Given the description of an element on the screen output the (x, y) to click on. 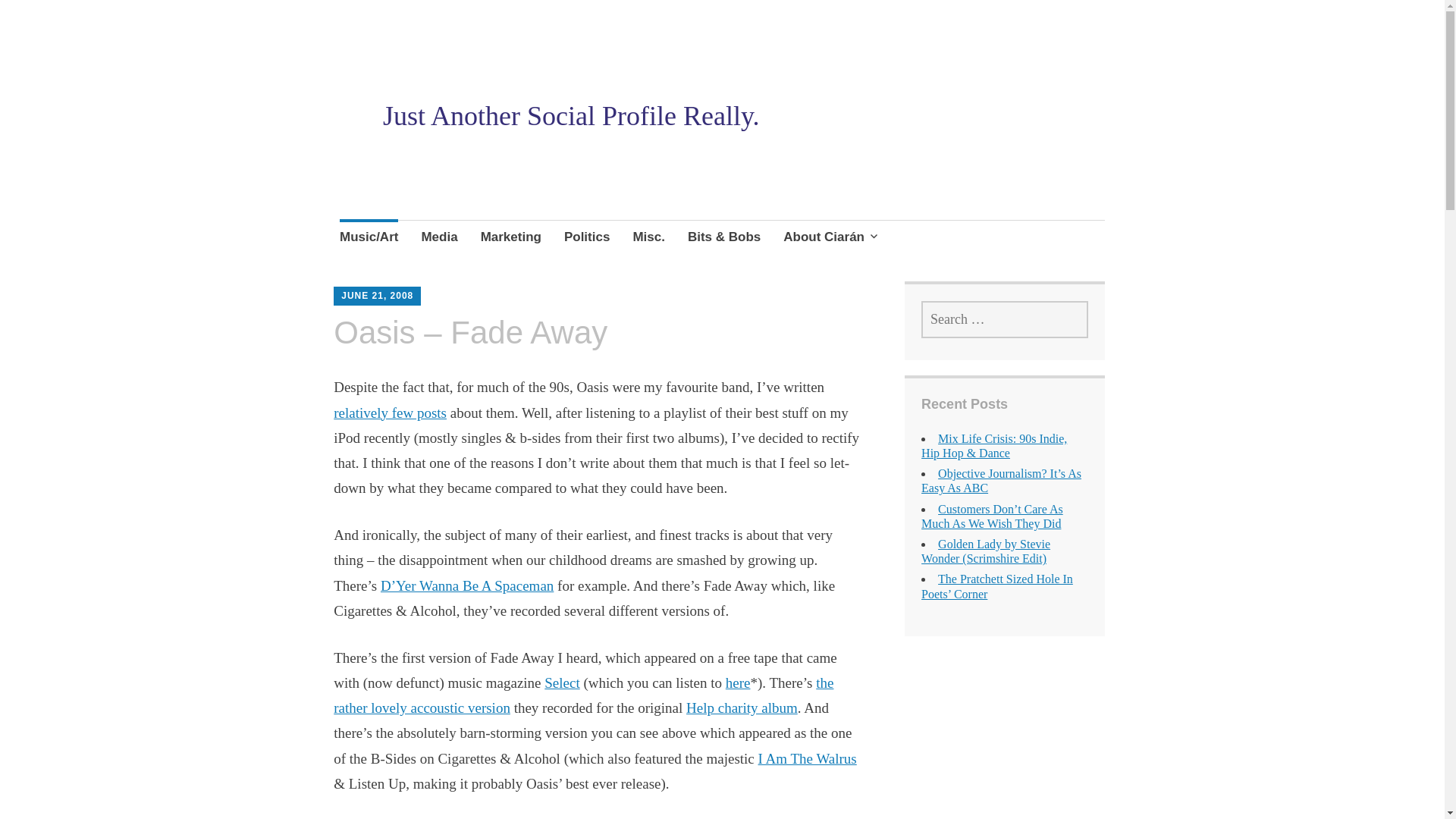
here (738, 682)
JUNE 21, 2008 (376, 295)
Marketing (510, 238)
I Am The Walrus (807, 758)
Politics (587, 238)
Just Another Social Profile Really. (571, 115)
the rather lovely accoustic version (582, 694)
Select (561, 682)
Help charity album (741, 707)
relatively few posts (389, 412)
